Given the description of an element on the screen output the (x, y) to click on. 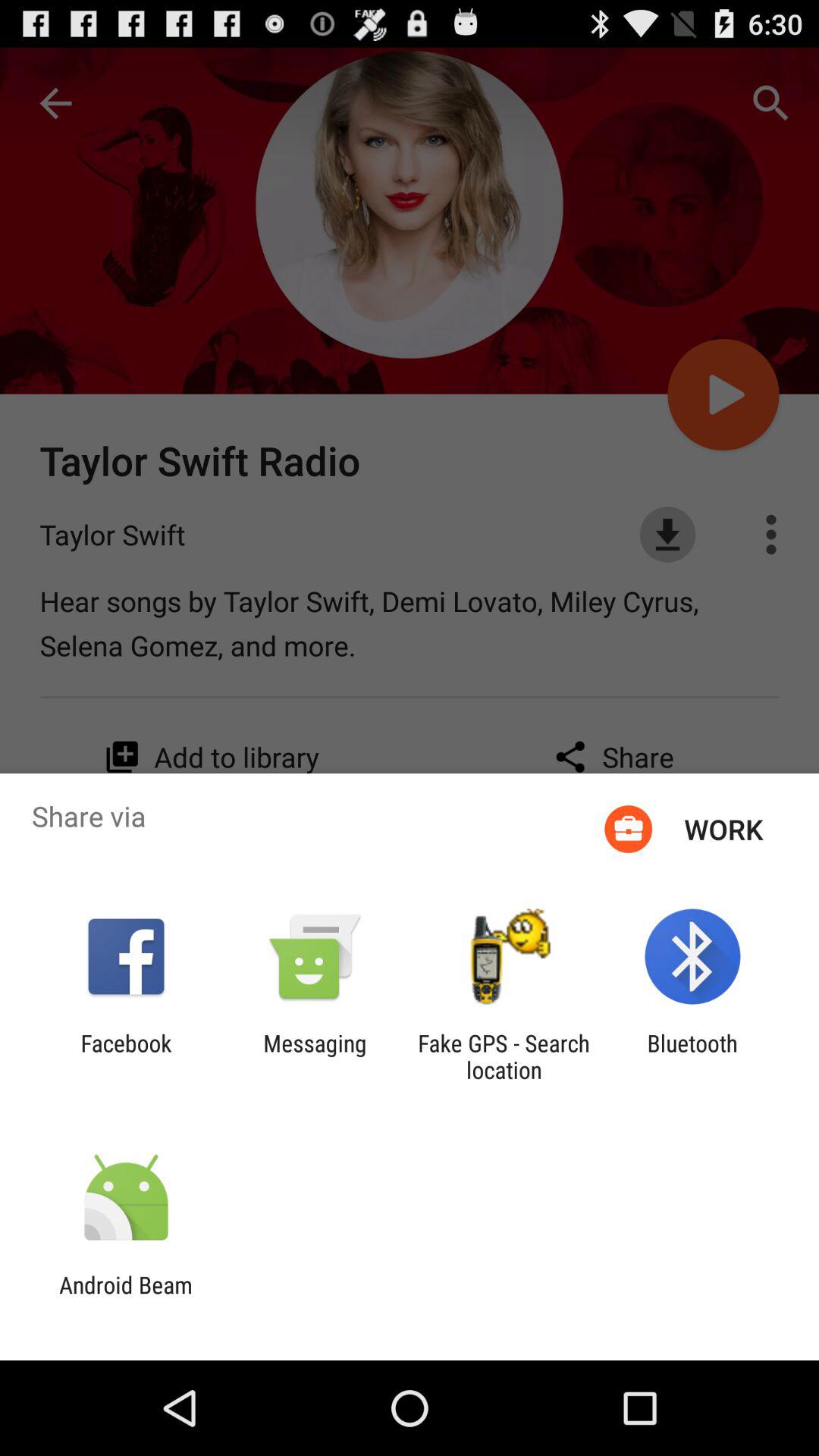
choose the icon to the left of messaging app (125, 1056)
